Given the description of an element on the screen output the (x, y) to click on. 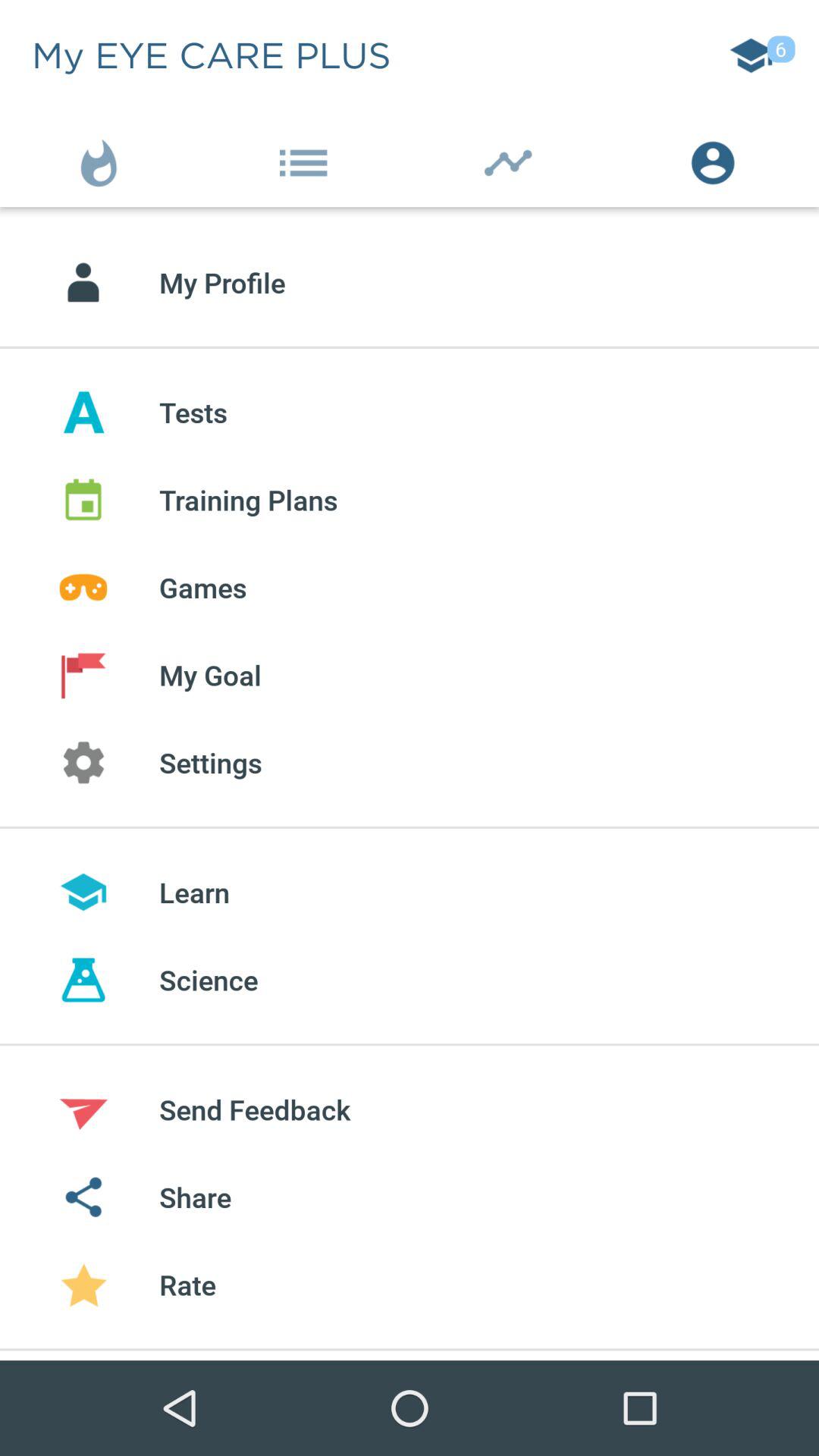
scroll to item (102, 159)
